Given the description of an element on the screen output the (x, y) to click on. 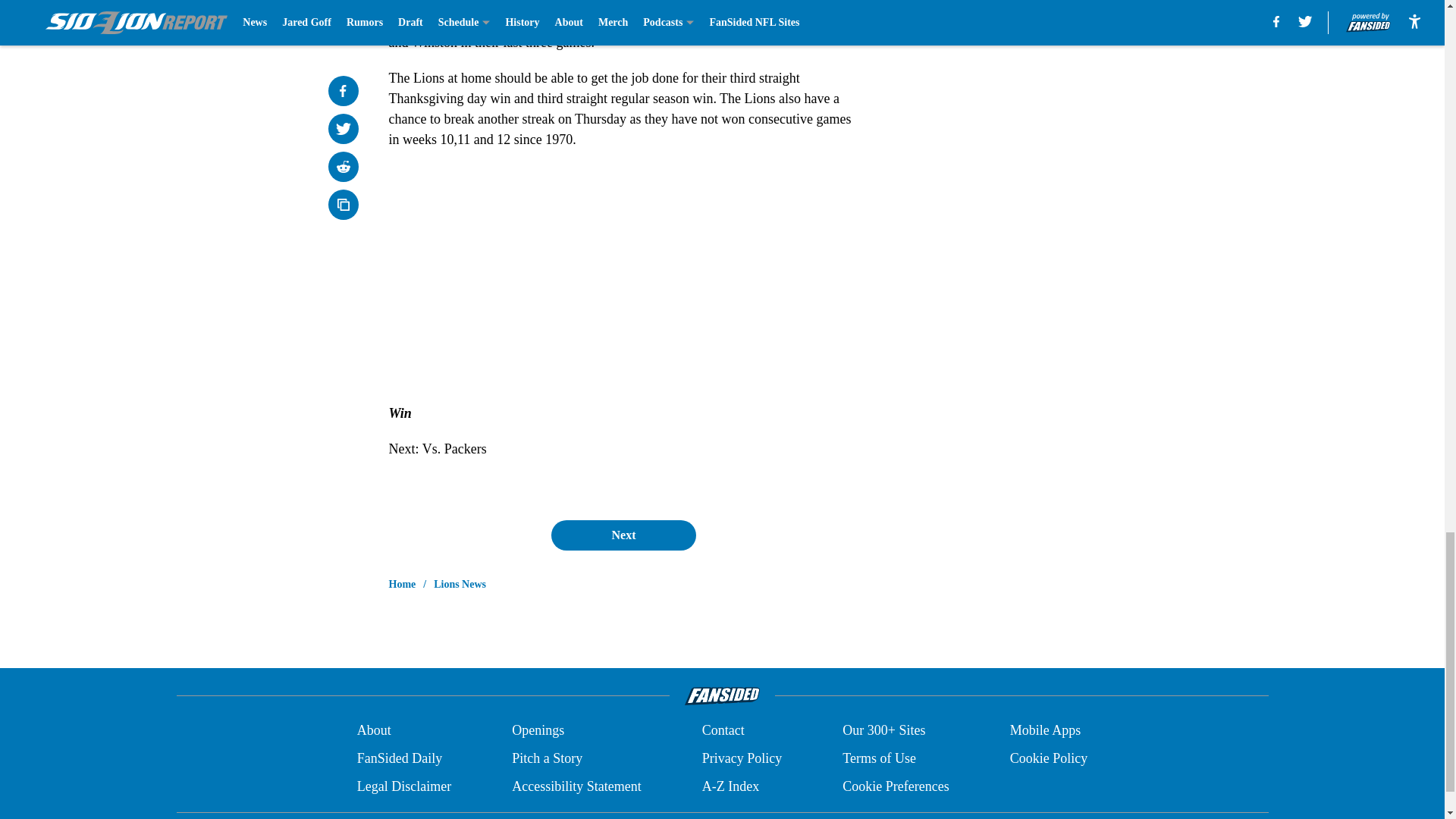
Next (622, 535)
FanSided Daily (399, 758)
About (373, 730)
Openings (538, 730)
Contact (722, 730)
Home (401, 584)
Pitch a Story (547, 758)
Mobile Apps (1045, 730)
Lions News (459, 584)
